Given the description of an element on the screen output the (x, y) to click on. 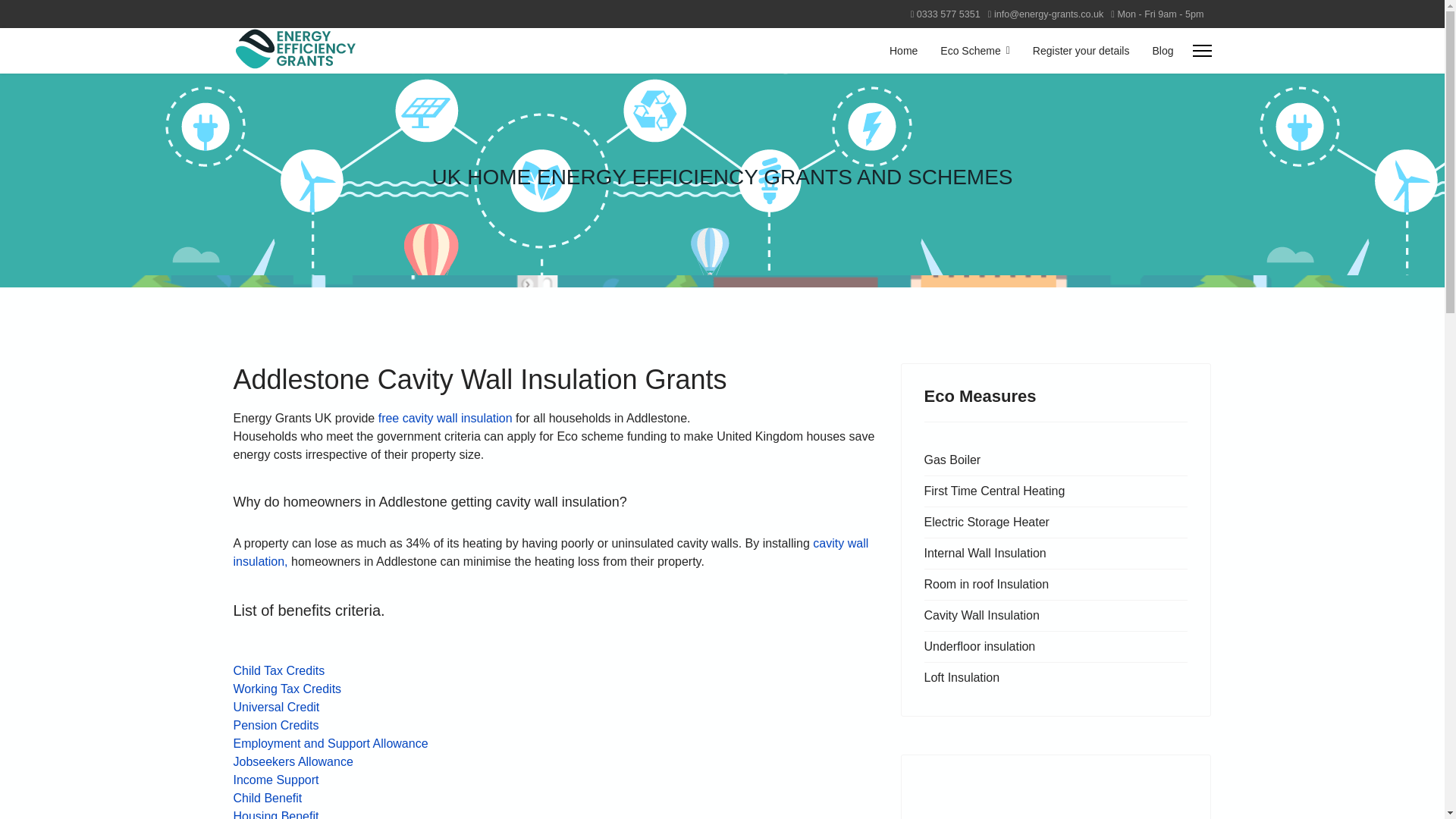
Internal Wall Insulation (1055, 553)
Gas Boiler (1055, 460)
Electric Storage Heater (1055, 521)
cavity wall insulation, (550, 552)
Employment and Support Allowance (330, 743)
Register your details (1081, 50)
Jobseekers Allowance (292, 761)
0333 577 5351 (948, 14)
Pension Credits (275, 725)
Housing Benefit (275, 814)
Income Support (275, 779)
Universal Credit (276, 707)
Child Benefit (267, 797)
Home (902, 50)
Room in roof Insulation (1055, 584)
